Given the description of an element on the screen output the (x, y) to click on. 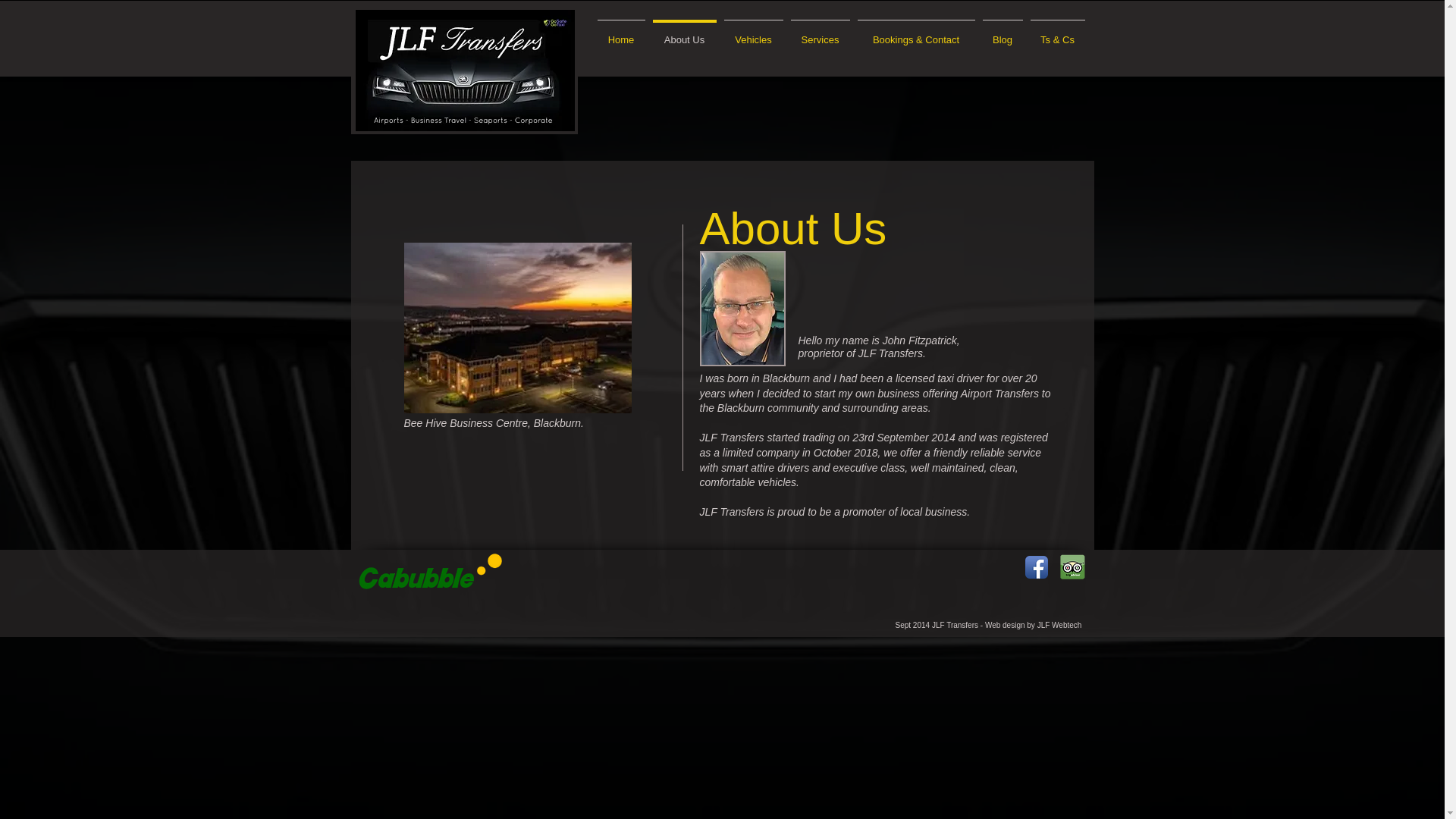
Home (619, 32)
Vehicles (753, 32)
About Us (684, 32)
Services (820, 32)
ept 2014 JLF Transfers - Web design by JLF Webtech (990, 624)
Blog (1002, 32)
